Given the description of an element on the screen output the (x, y) to click on. 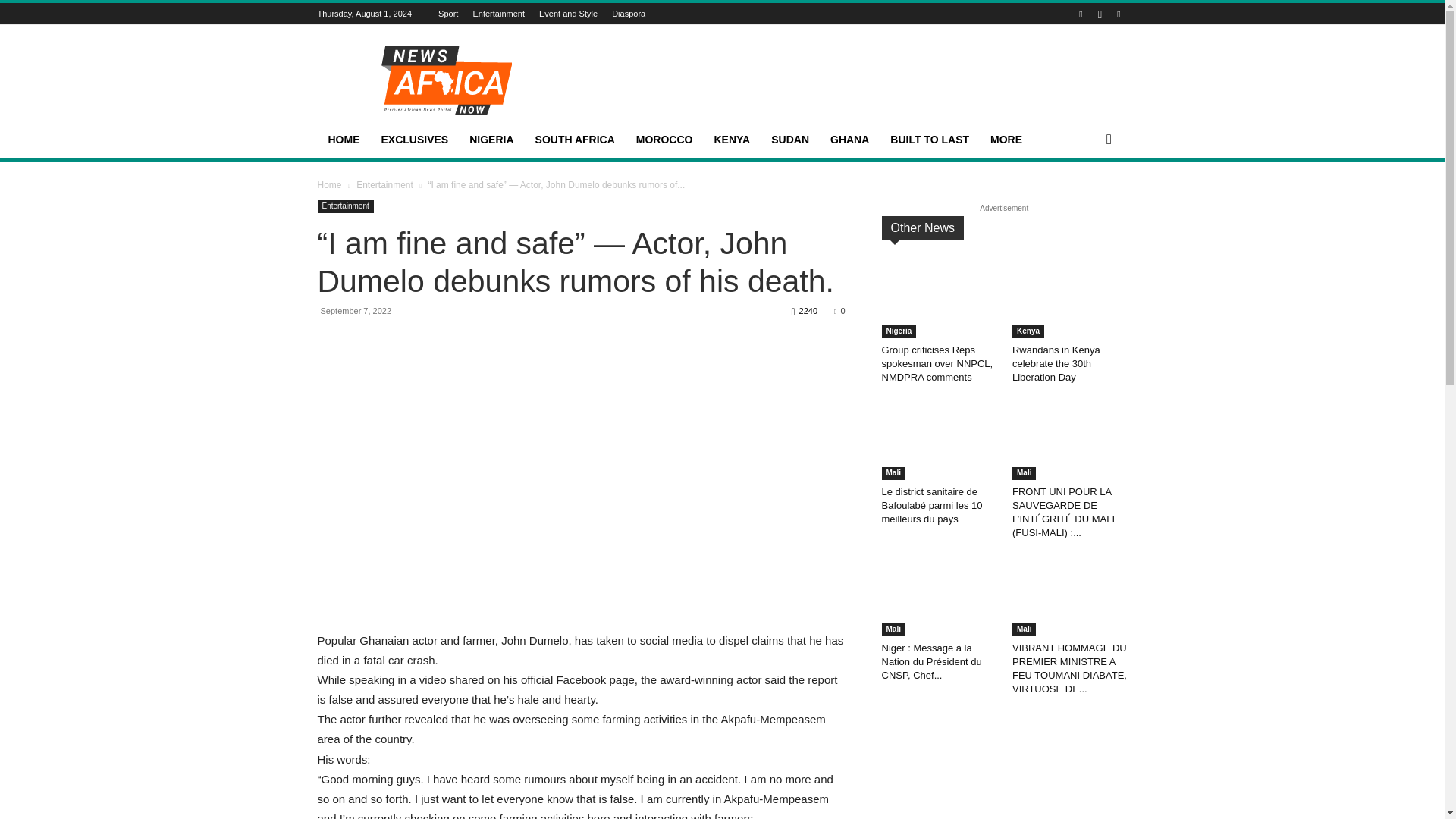
Diaspora (628, 13)
View all posts in Entertainment (384, 184)
Event and Style (567, 13)
NIGERIA (491, 139)
Sport (448, 13)
MOROCCO (664, 139)
HOME (343, 139)
Entertainment (497, 13)
SOUTH AFRICA (575, 139)
EXCLUSIVES (413, 139)
